Given the description of an element on the screen output the (x, y) to click on. 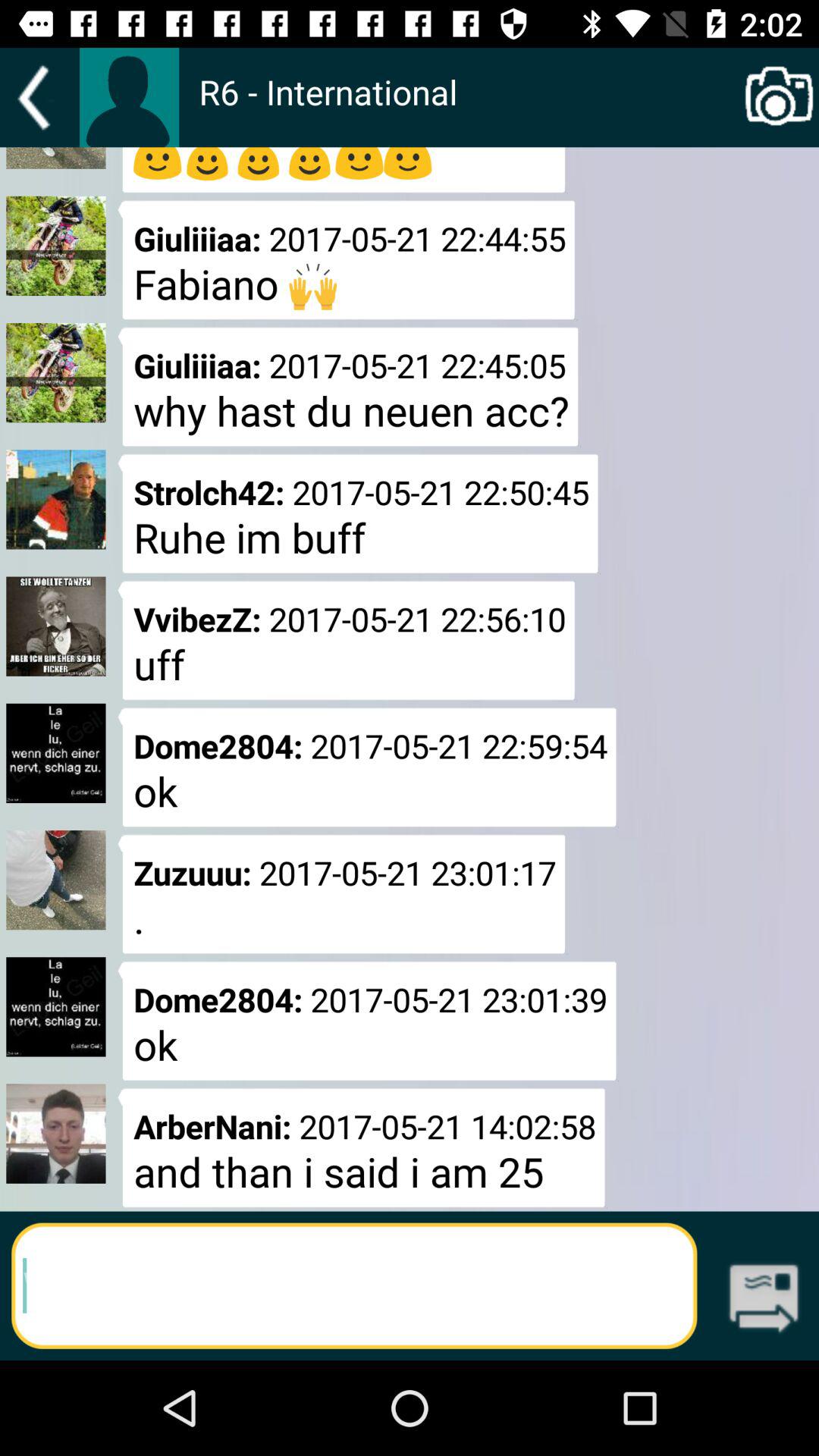
click on dome2804 20170521 225954 (367, 767)
select the fourth image of the page (55, 626)
select the icon which is next to the text field (764, 1300)
click on the comment field (354, 1286)
click on zuzuu 20170521 230117 (342, 893)
